Given the description of an element on the screen output the (x, y) to click on. 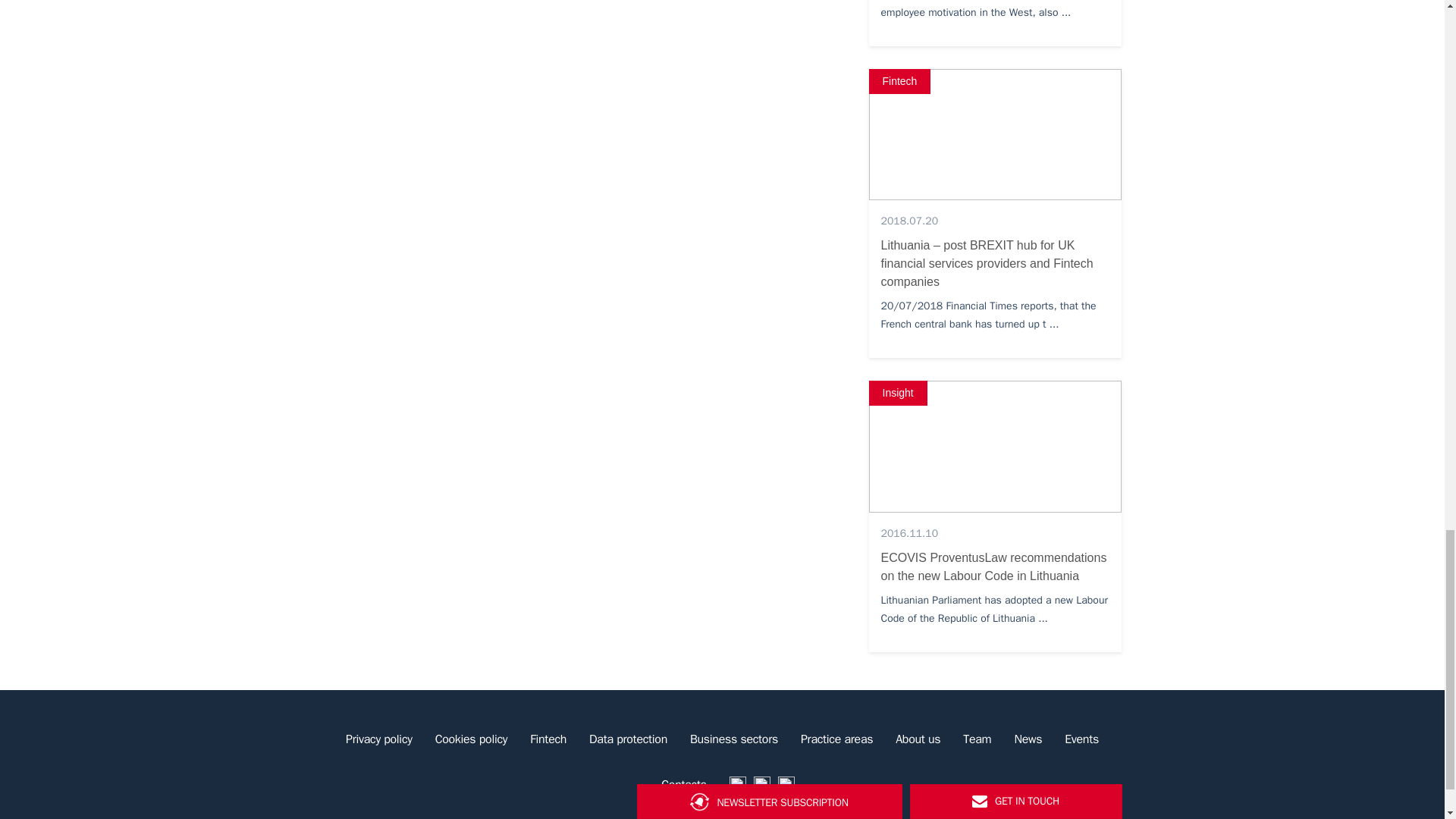
Cookies policy (471, 739)
Fintech (548, 739)
Data protection (628, 739)
Business sectors (733, 739)
Privacy policy (378, 739)
